Given the description of an element on the screen output the (x, y) to click on. 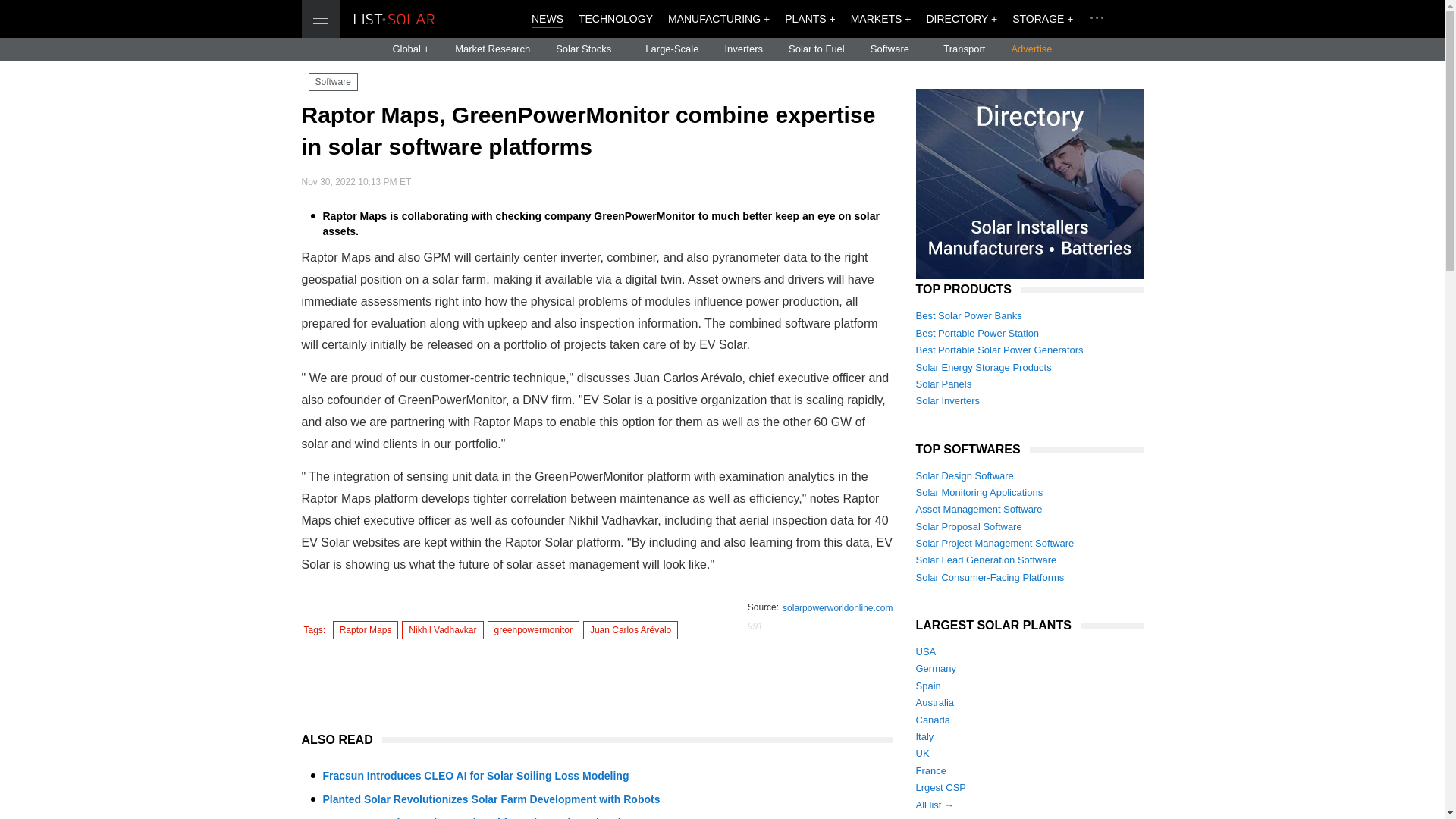
Fracsun Introduces CLEO AI for Solar Soiling Loss Modeling (475, 775)
